Given the description of an element on the screen output the (x, y) to click on. 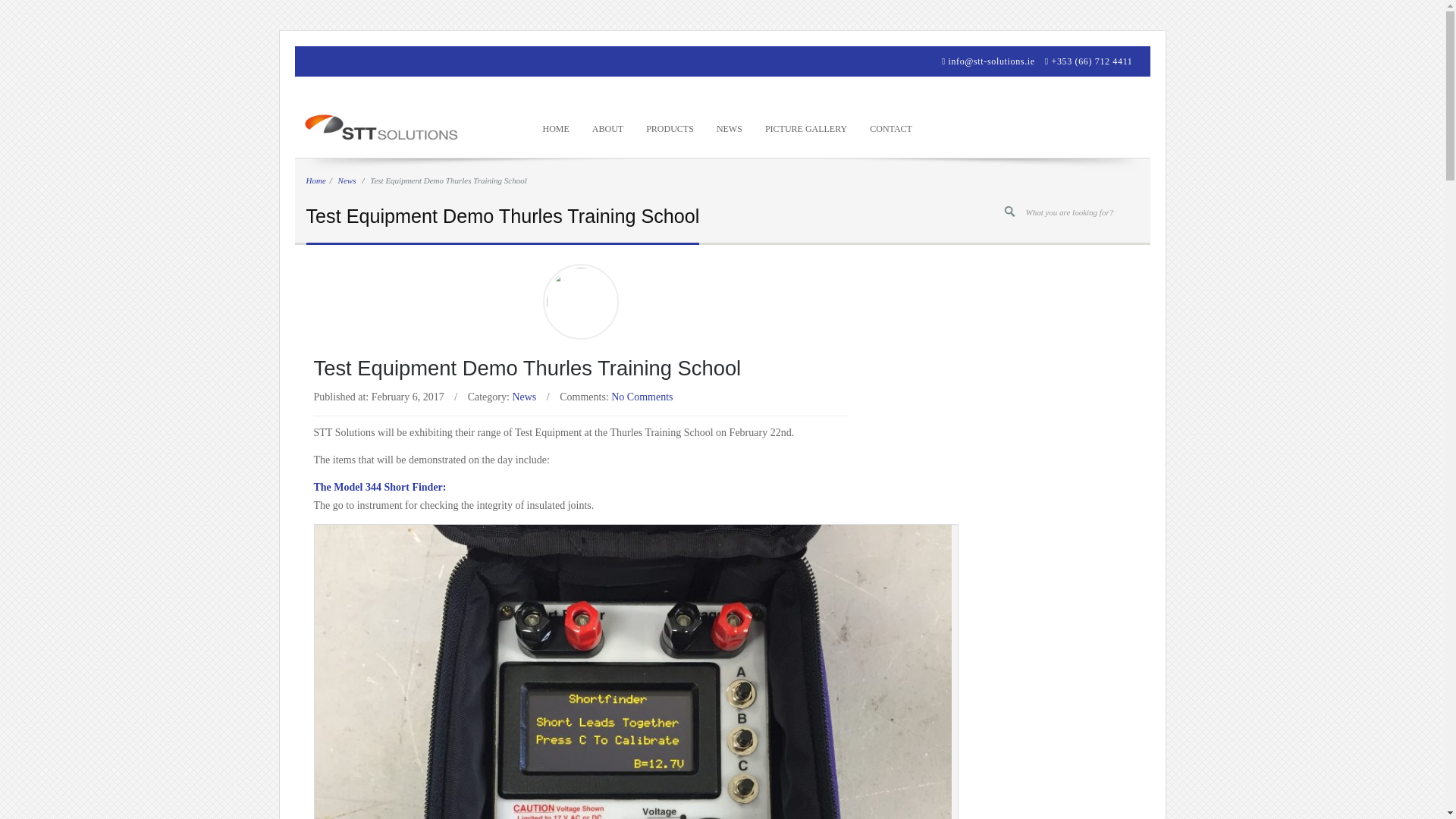
Contact (891, 128)
PRODUCTS (669, 128)
Home (315, 181)
Home (555, 128)
PICTURE GALLERY (806, 128)
News (523, 396)
NEWS (729, 128)
News (346, 181)
Picture Gallery (806, 128)
Products (669, 128)
ABOUT (607, 128)
The Model 344 Short Finder: (380, 487)
Francis Foley (580, 301)
News (729, 128)
No Comments (641, 396)
